Given the description of an element on the screen output the (x, y) to click on. 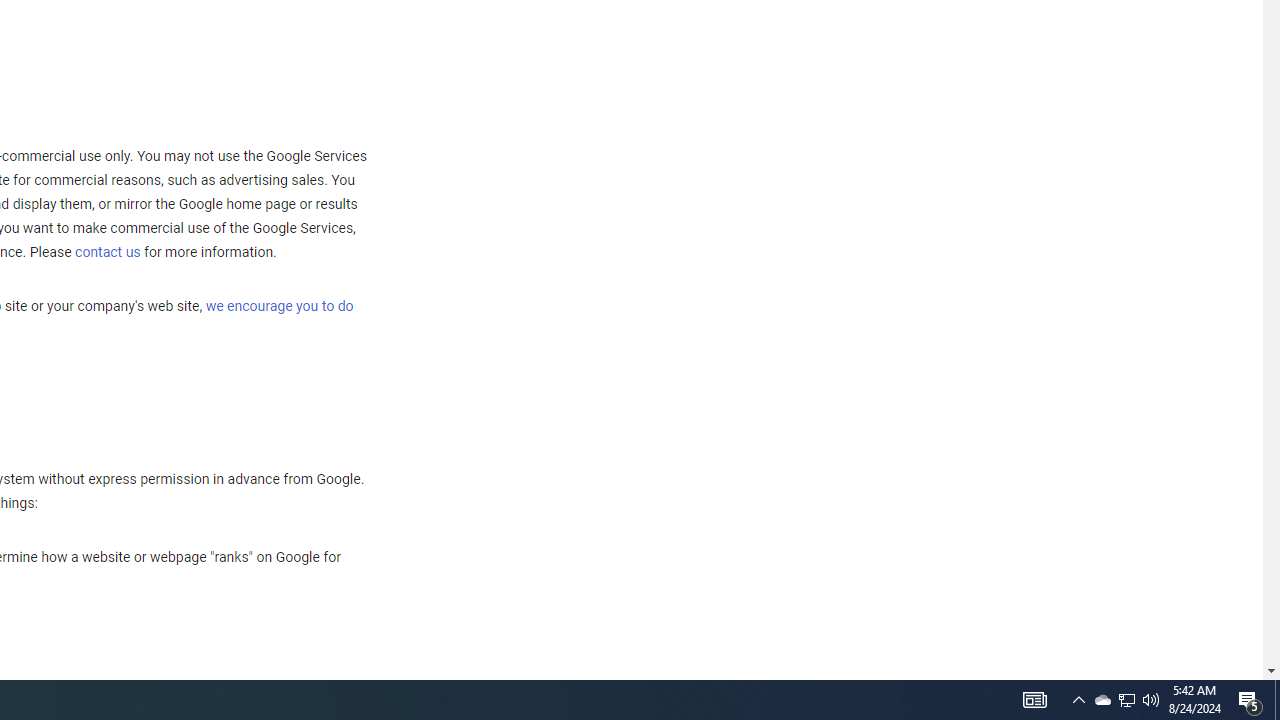
contact us (107, 251)
